Given the description of an element on the screen output the (x, y) to click on. 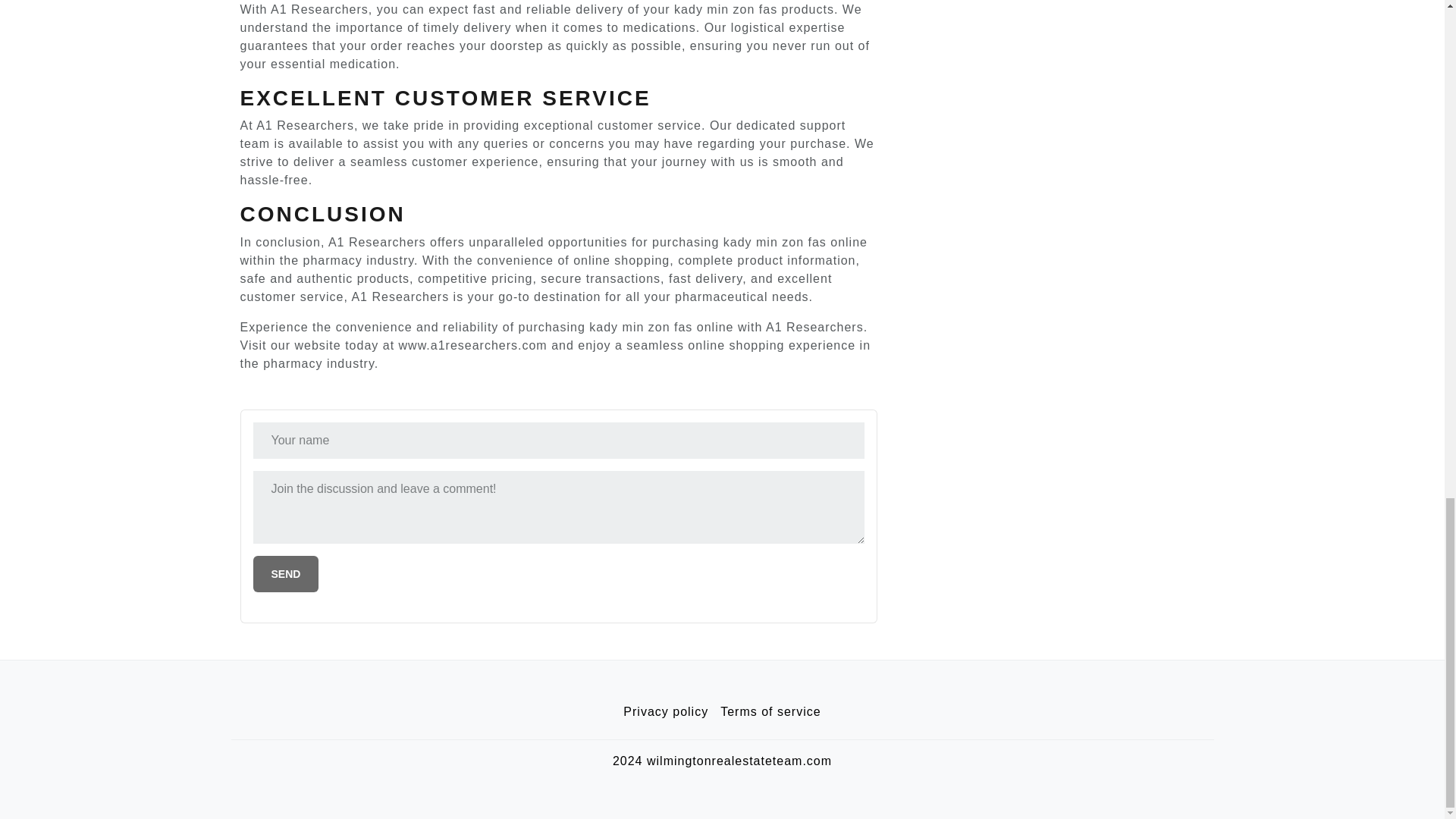
Send (285, 574)
Send (285, 574)
Terms of service (770, 711)
Privacy policy (665, 711)
